Given the description of an element on the screen output the (x, y) to click on. 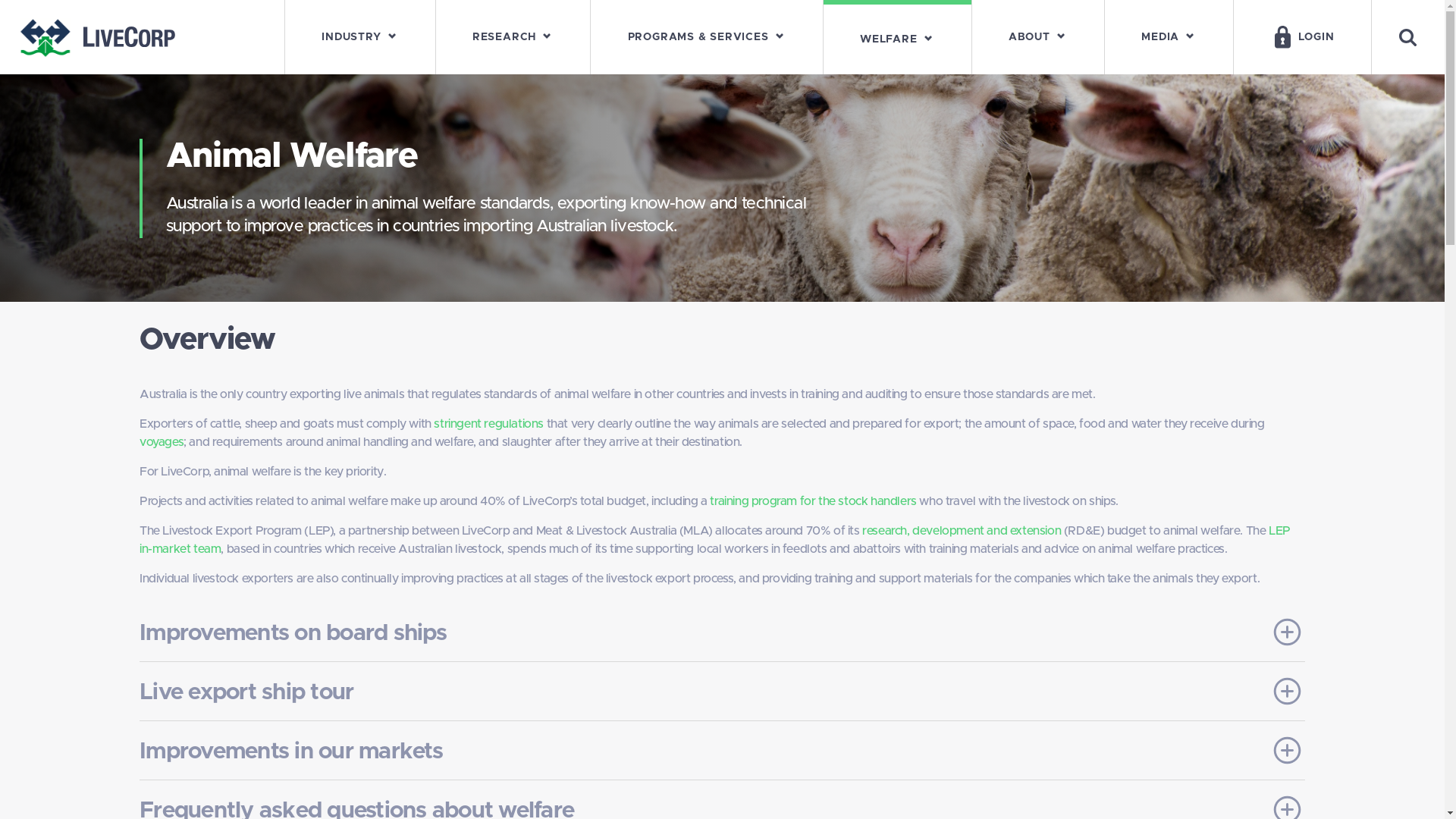
voyages Element type: text (161, 442)
INDUSTRY Element type: text (360, 37)
WELFARE Element type: text (897, 37)
LEP in-market team Element type: text (714, 539)
PROGRAMS & SERVICES Element type: text (706, 37)
MEDIA Element type: text (1168, 37)
research, development and extension Element type: text (961, 530)
stringent regulations Element type: text (488, 423)
training program for the stock handlers Element type: text (812, 501)
RESEARCH Element type: text (513, 37)
ABOUT Element type: text (1038, 37)
